Given the description of an element on the screen output the (x, y) to click on. 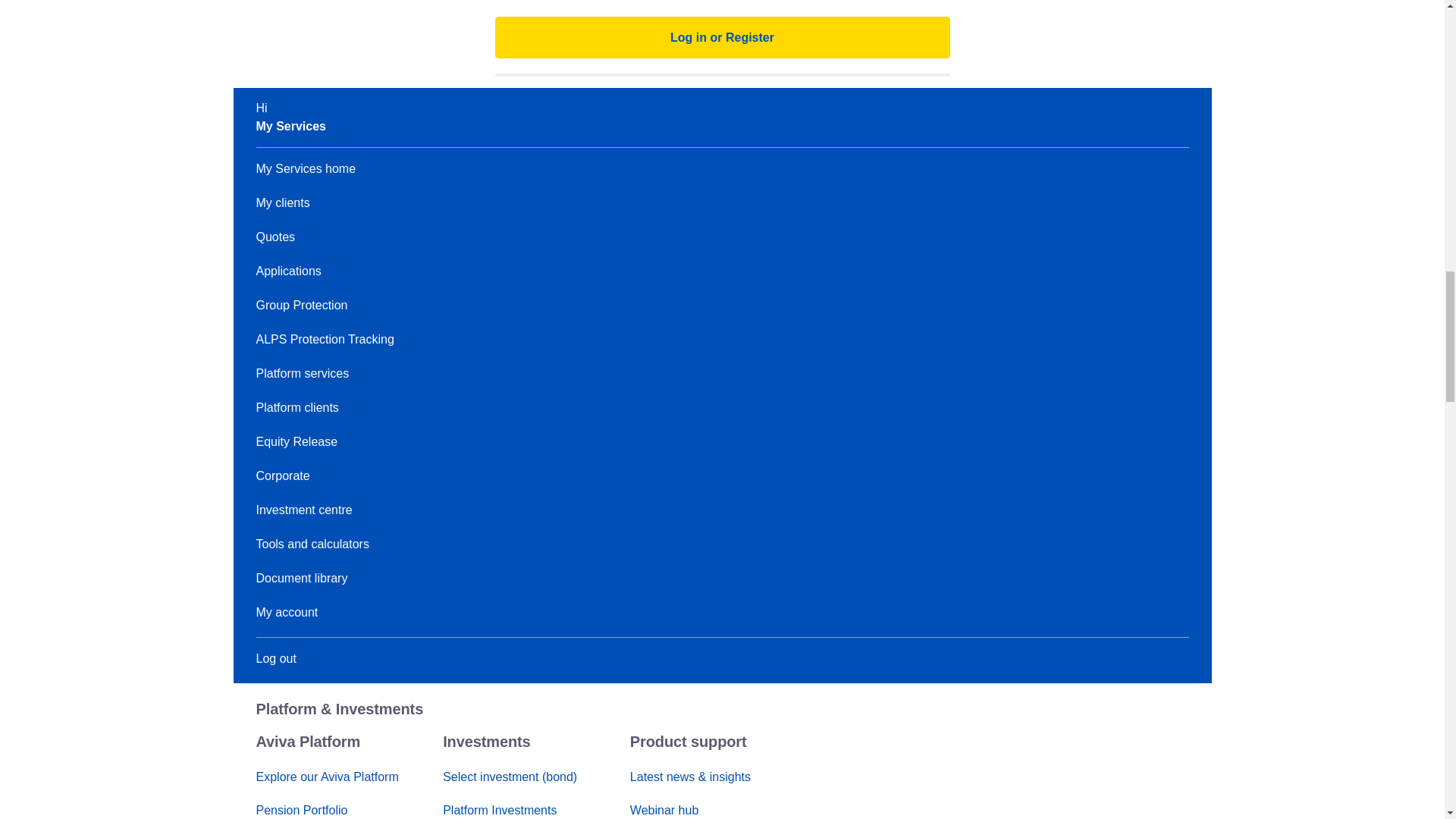
Quotes (275, 236)
Platform services (302, 373)
Group Protection (301, 305)
Explore our Aviva Platform (327, 776)
My account (287, 612)
Investment centre (304, 510)
Platform clients (297, 407)
Log out (276, 658)
Log in or Register (722, 37)
Document library (301, 578)
